Given the description of an element on the screen output the (x, y) to click on. 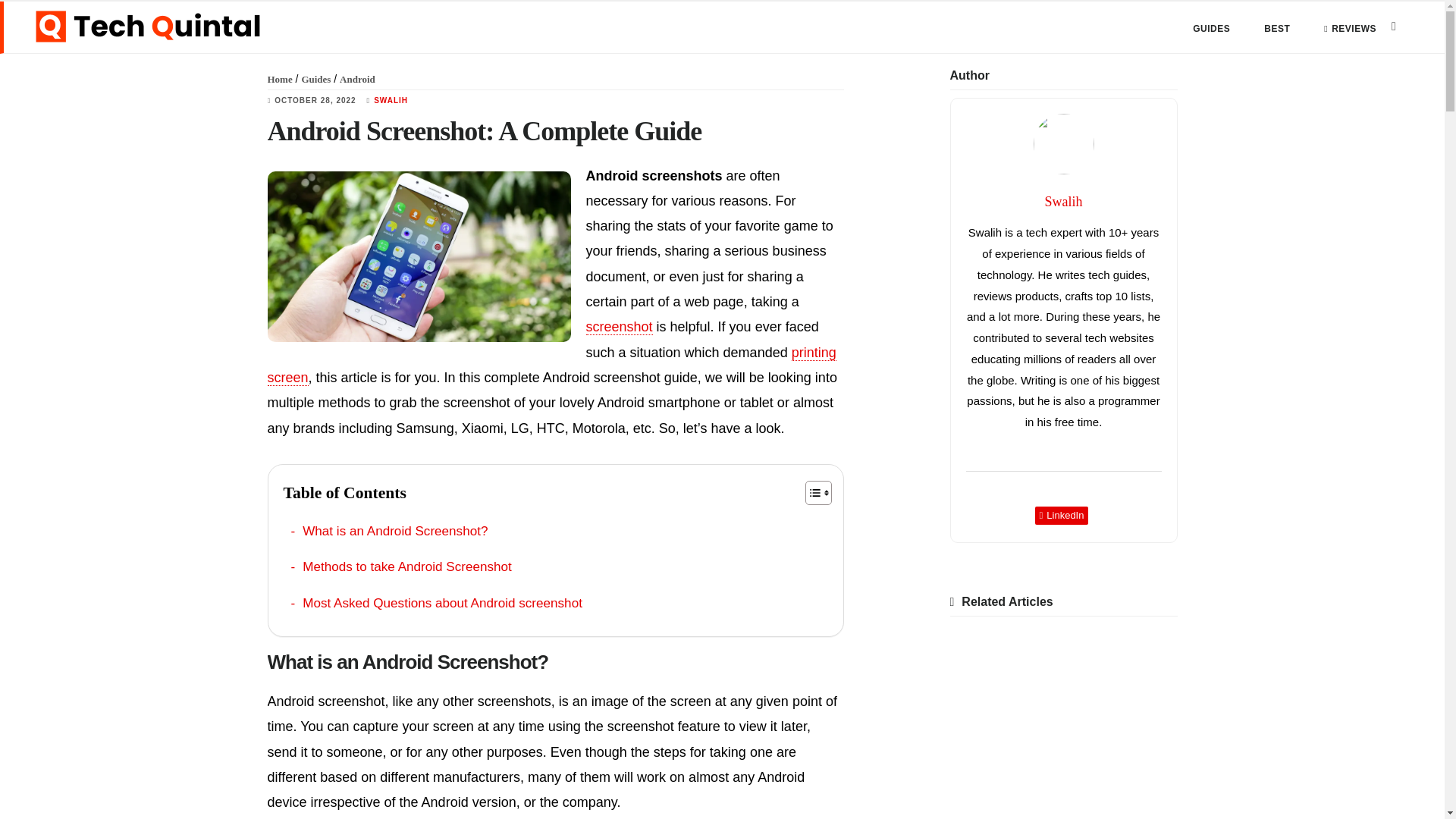
REVIEWS (1350, 28)
Android (357, 79)
What is an Android Screenshot? (389, 530)
TECH QUINTAL (147, 26)
GUIDES (1211, 28)
printing screen (550, 364)
SWALIH (390, 100)
screenshot (618, 326)
